Given the description of an element on the screen output the (x, y) to click on. 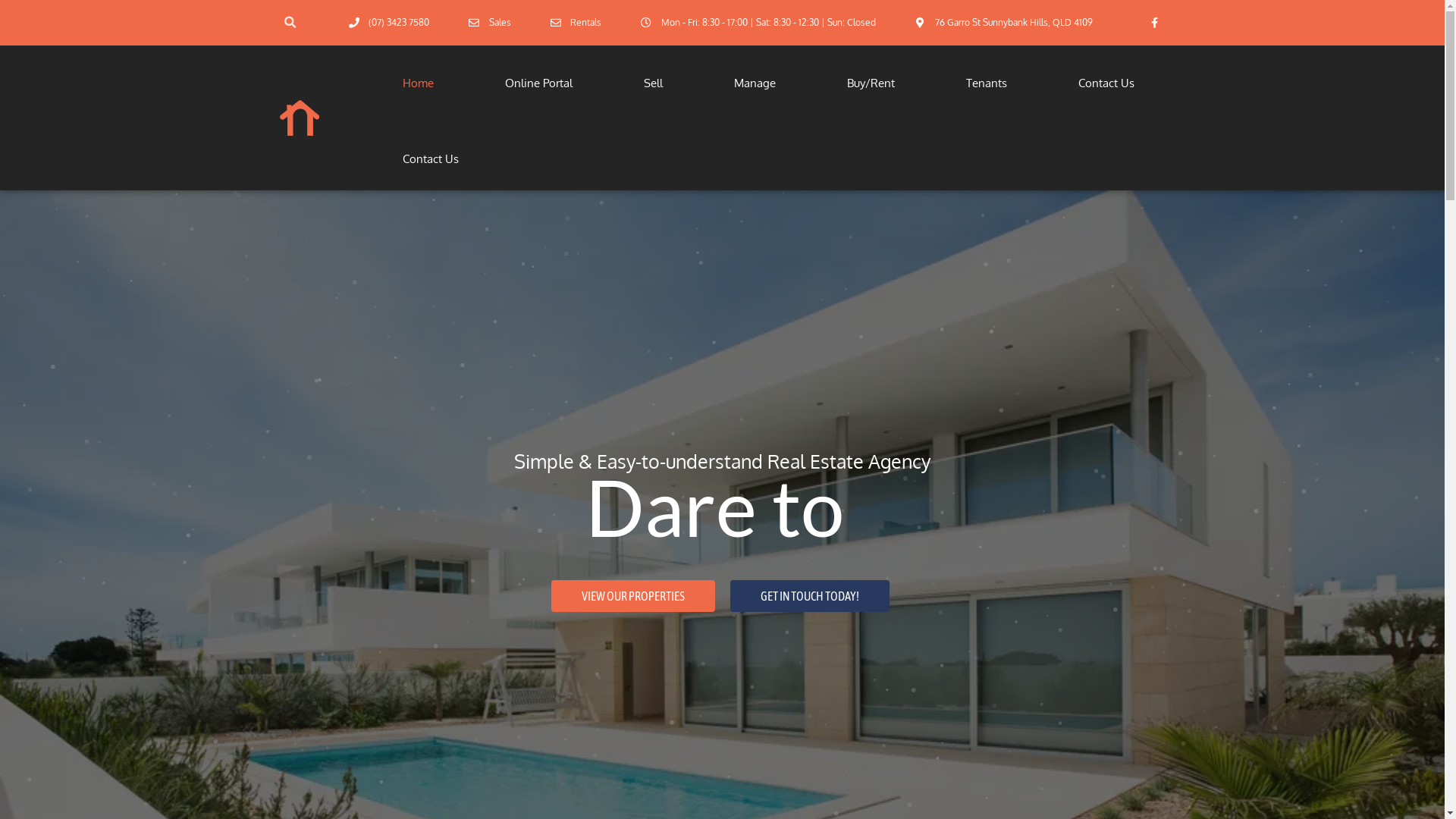
Buy/Rent Element type: text (870, 83)
Sell Element type: text (653, 83)
GET IN TOUCH TODAY! Element type: text (808, 595)
Manage Element type: text (753, 83)
(07) 3423 7580 Element type: text (388, 22)
VIEW OUR PROPERTIES Element type: text (632, 595)
Home Element type: text (418, 83)
Tenants Element type: text (985, 83)
Contact Us Element type: text (1105, 83)
Rentals Element type: text (575, 22)
Contact Us Element type: text (430, 159)
Online Portal Element type: text (537, 83)
Sales Element type: text (489, 22)
